Given the description of an element on the screen output the (x, y) to click on. 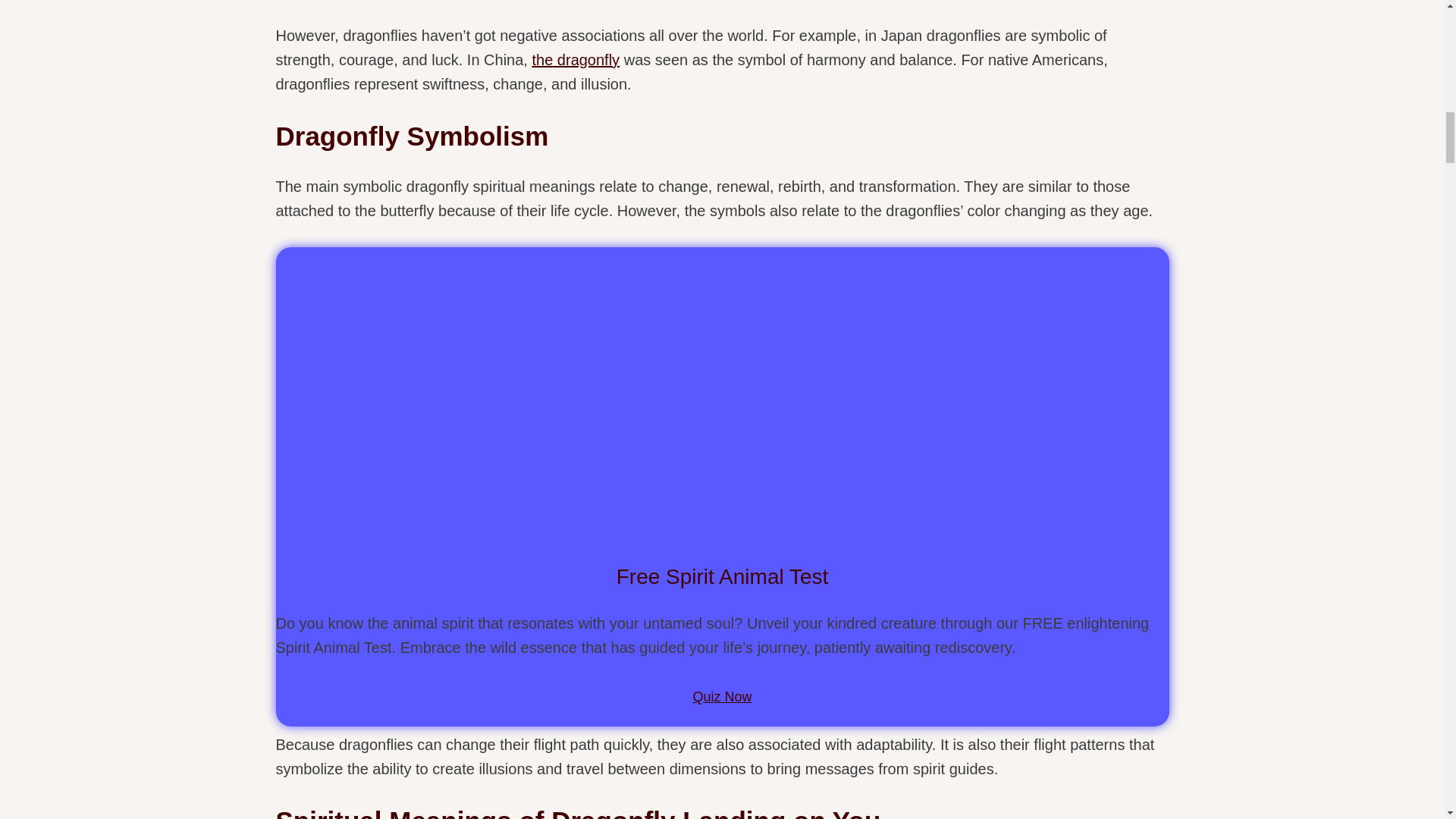
the dragonfly (575, 59)
Quiz Now (721, 696)
